Given the description of an element on the screen output the (x, y) to click on. 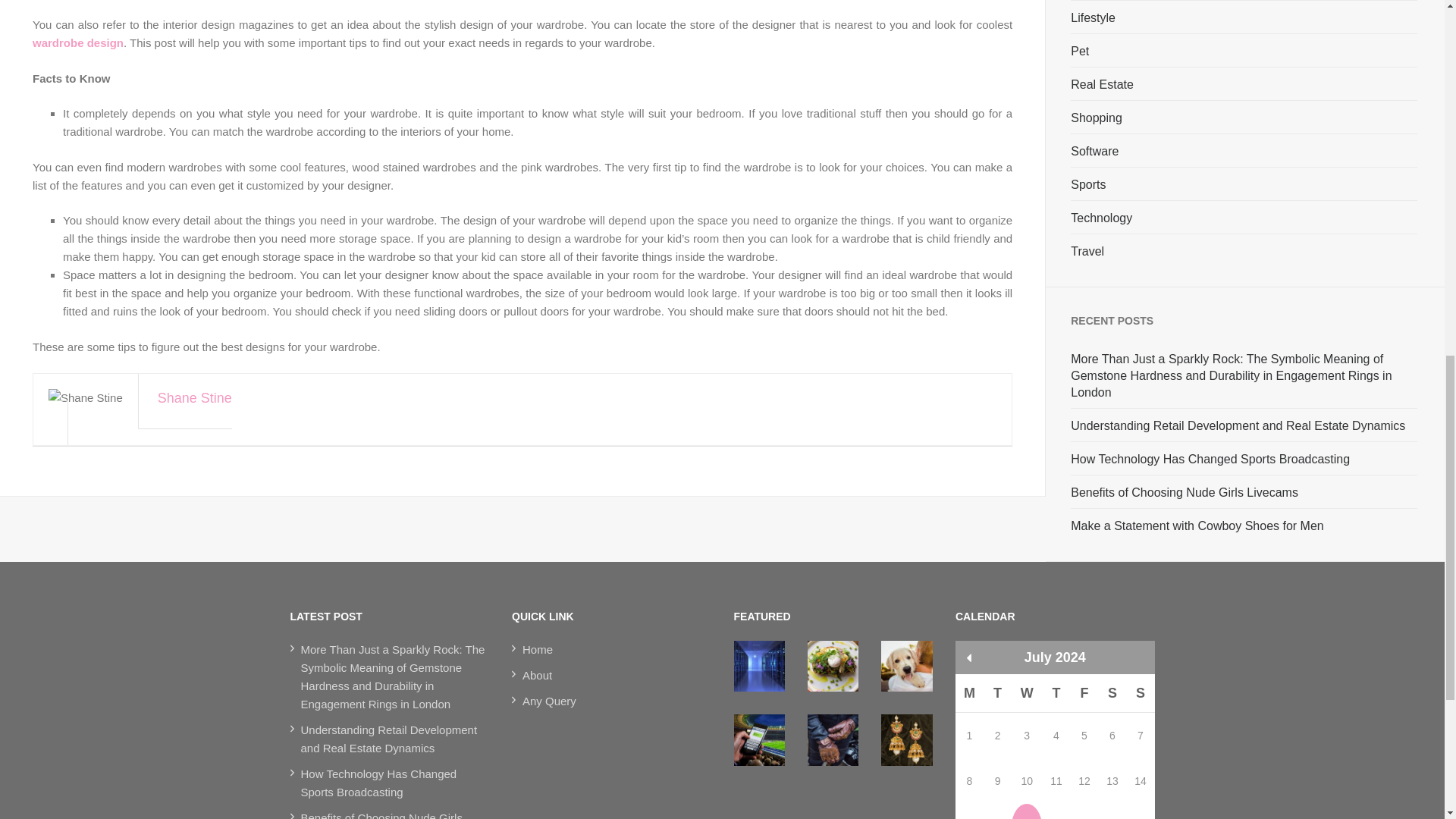
Technology (1101, 217)
Software (1094, 151)
Lifestyle (1092, 17)
Pet (1079, 51)
Real Estate (1102, 84)
Shane Stine (529, 414)
Sports (1087, 184)
Shopping (1096, 117)
wardrobe design (77, 42)
